Given the description of an element on the screen output the (x, y) to click on. 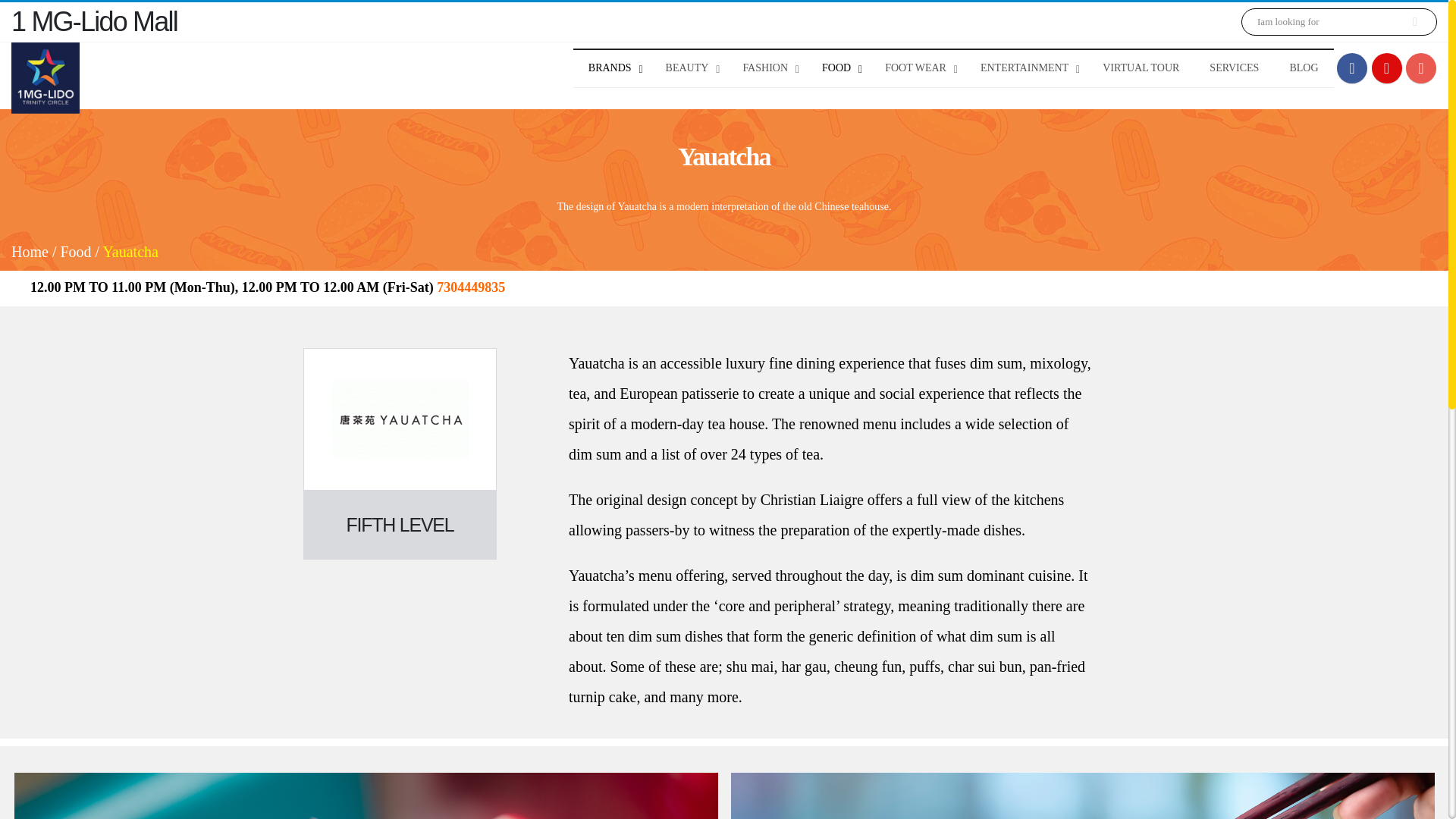
 -  (45, 77)
Youtube (1385, 68)
Search (1414, 22)
Facebook (1351, 68)
yauatcha-logo (399, 419)
Yauatcha1 (365, 796)
Yauatcha2 (1082, 796)
BRANDS (611, 67)
Instagram (1420, 68)
